Given the description of an element on the screen output the (x, y) to click on. 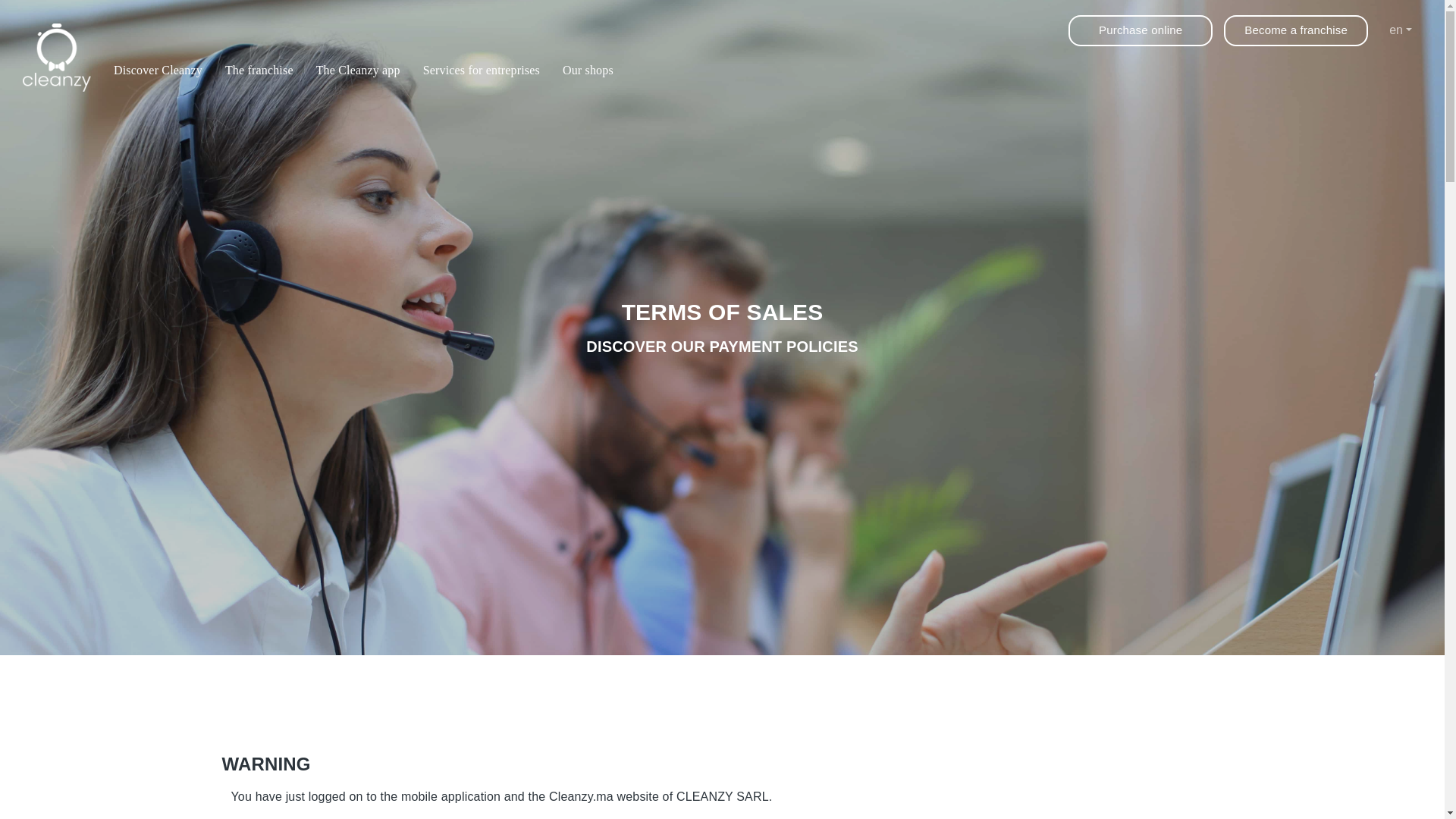
Purchase online (1140, 30)
Become a franchise (1296, 30)
en (1400, 30)
